Given the description of an element on the screen output the (x, y) to click on. 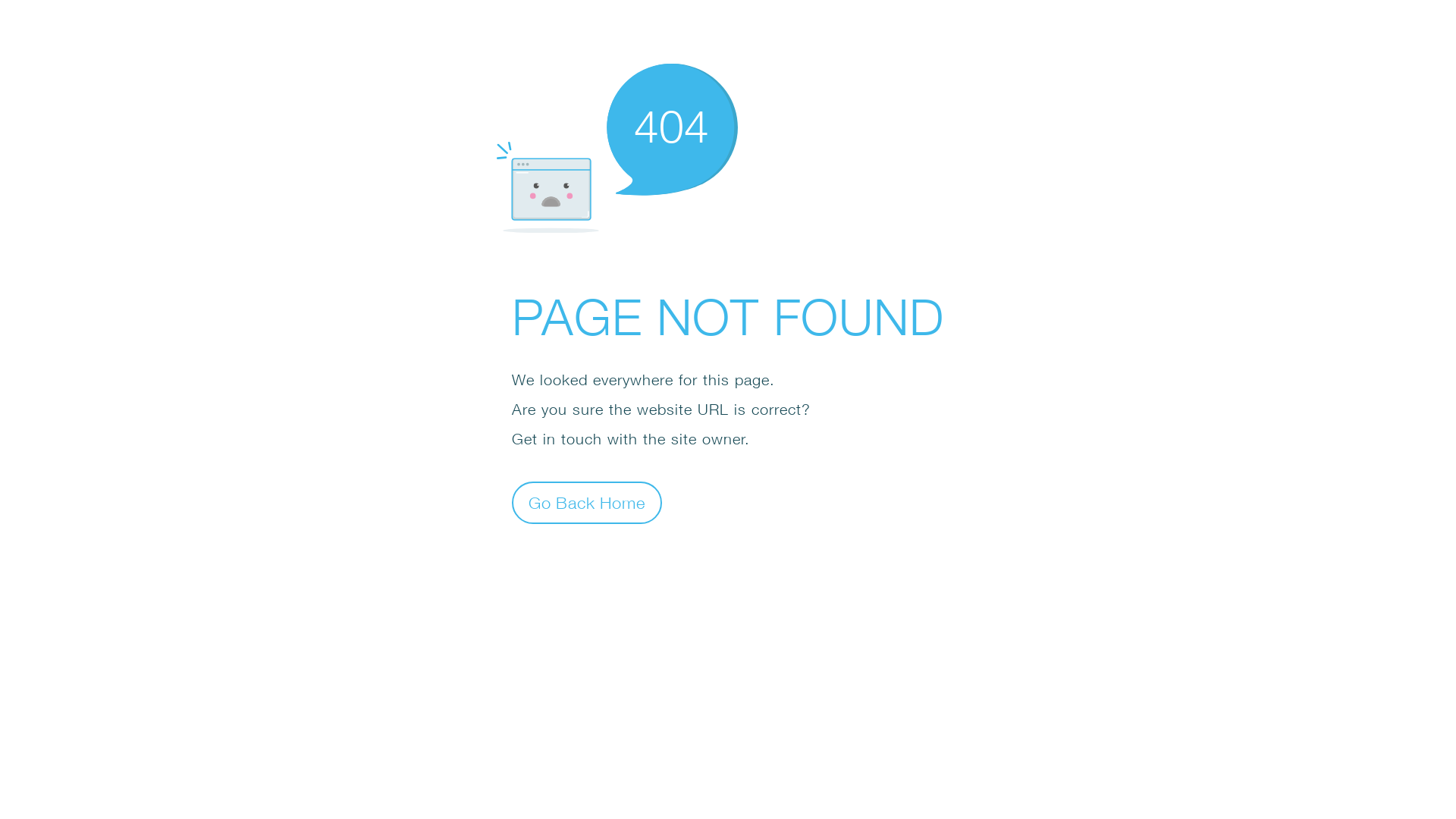
Go Back Home Element type: text (586, 502)
